Given the description of an element on the screen output the (x, y) to click on. 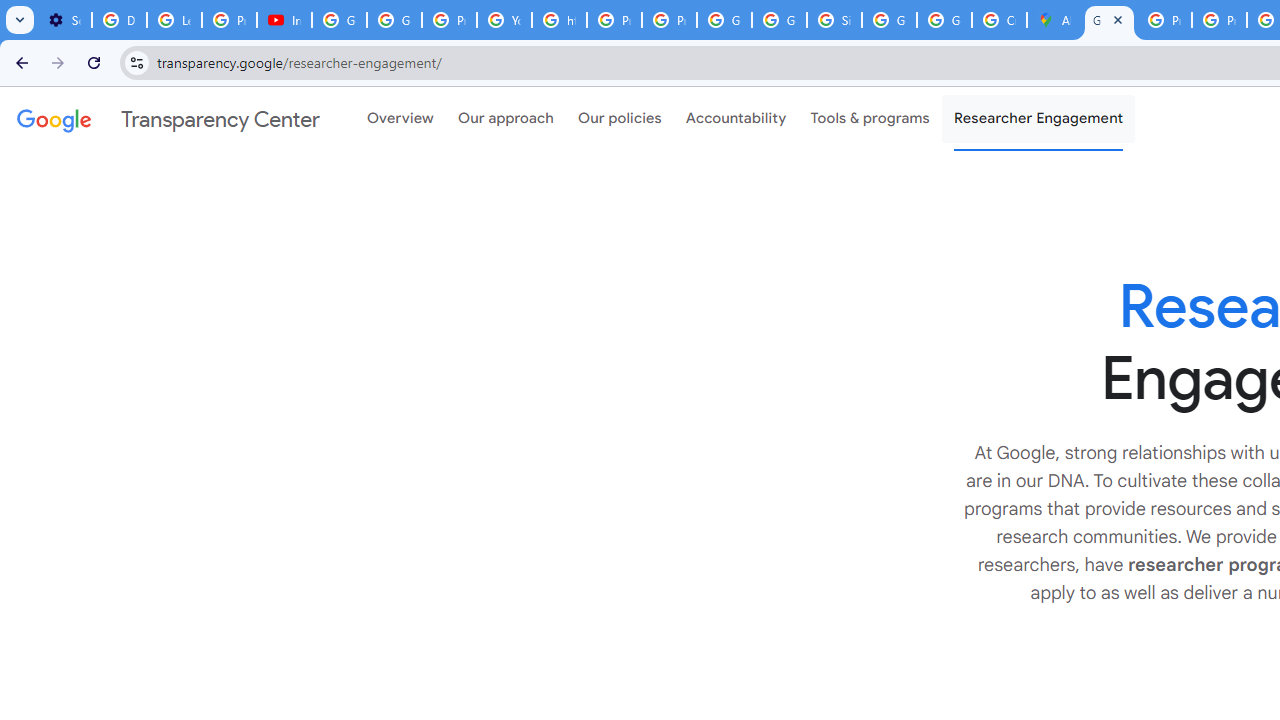
Researcher Engagement (1038, 119)
Privacy Help Center - Policies Help (1163, 20)
Privacy Help Center - Policies Help (614, 20)
Transparency Center (167, 119)
Delete photos & videos - Computer - Google Photos Help (119, 20)
